Given the description of an element on the screen output the (x, y) to click on. 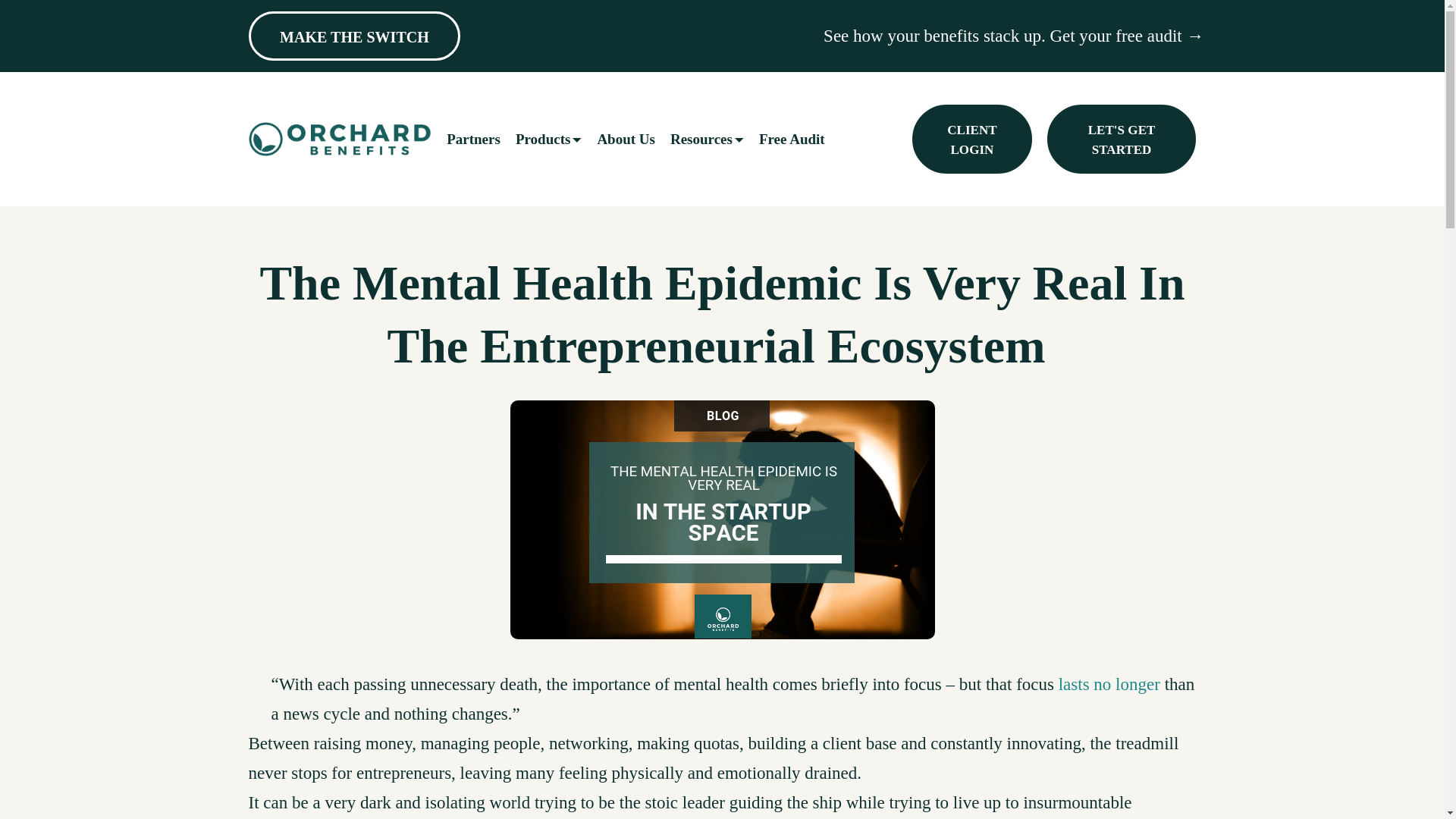
Free Audit (791, 138)
About Us (625, 138)
Products (548, 138)
Resources (706, 138)
Pronav Chatbot (1316, 759)
Partners (473, 138)
MAKE THE SWITCH (354, 35)
